Given the description of an element on the screen output the (x, y) to click on. 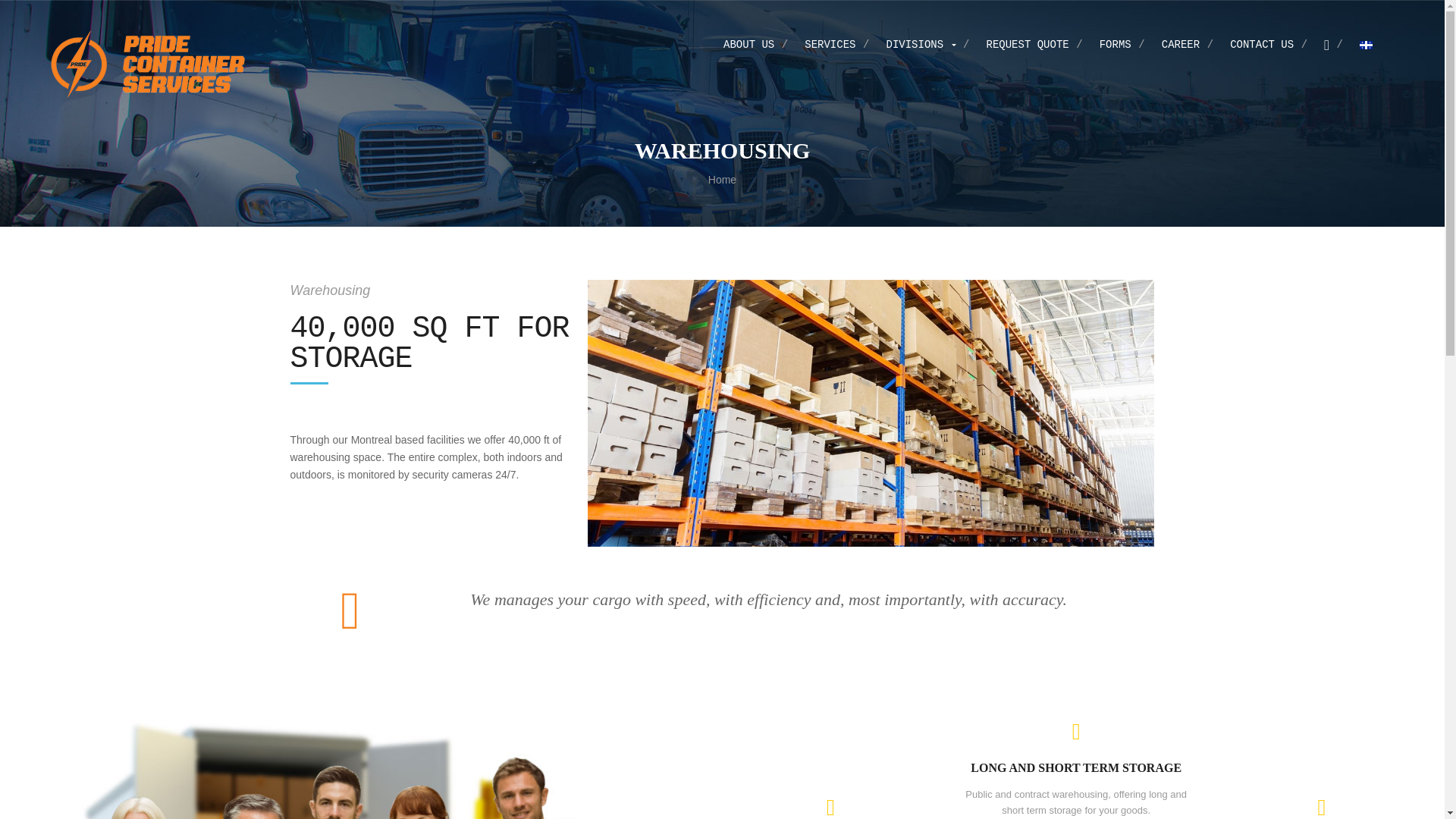
REQUEST QUOTE (1026, 44)
Home (721, 179)
CAREER (1180, 44)
CONTACT US (1262, 44)
FORMS (1115, 44)
DIVISIONS (920, 44)
ABOUT US (748, 44)
SERVICES (830, 44)
